Given the description of an element on the screen output the (x, y) to click on. 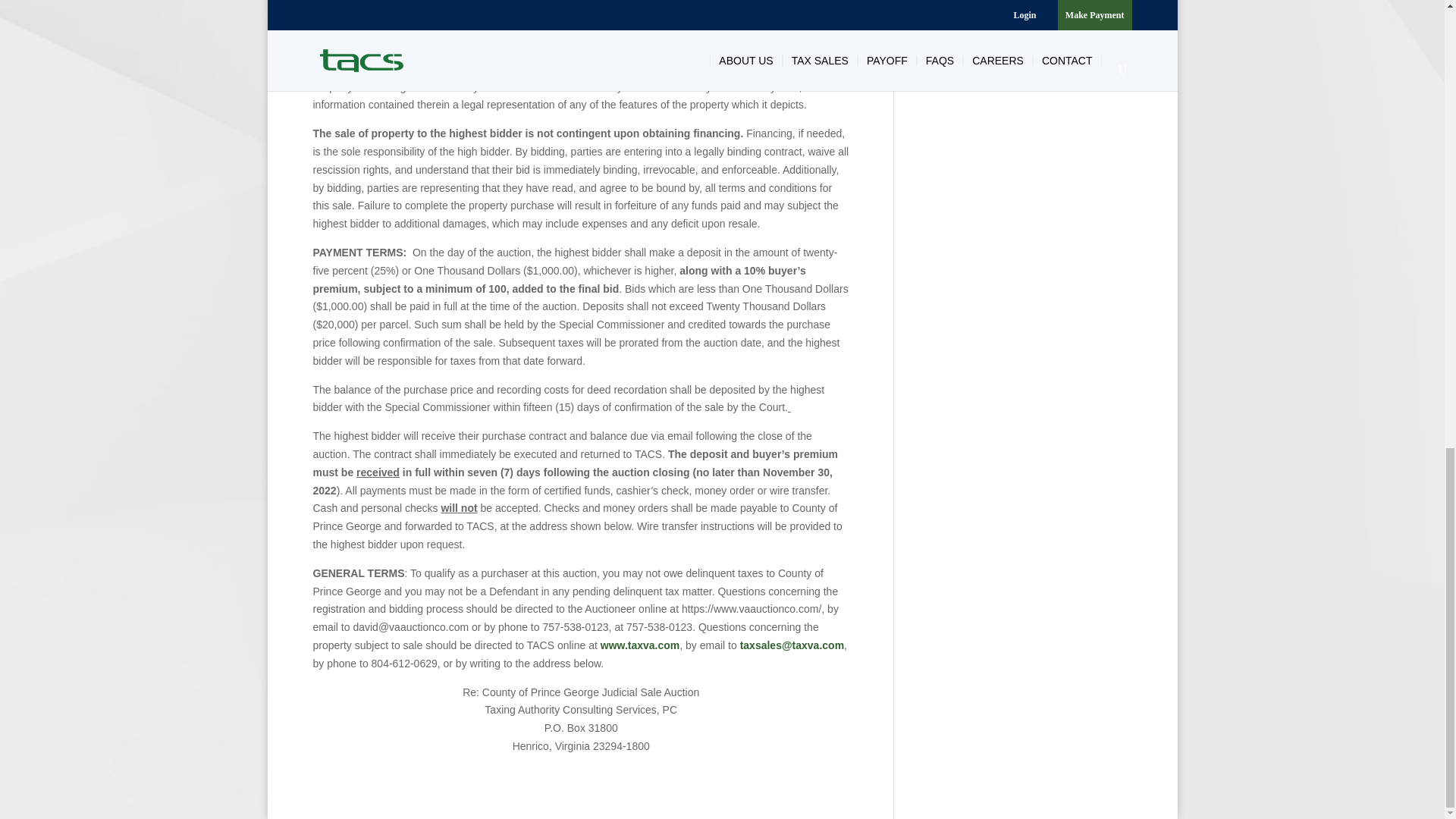
www.taxva.com (639, 645)
